Given the description of an element on the screen output the (x, y) to click on. 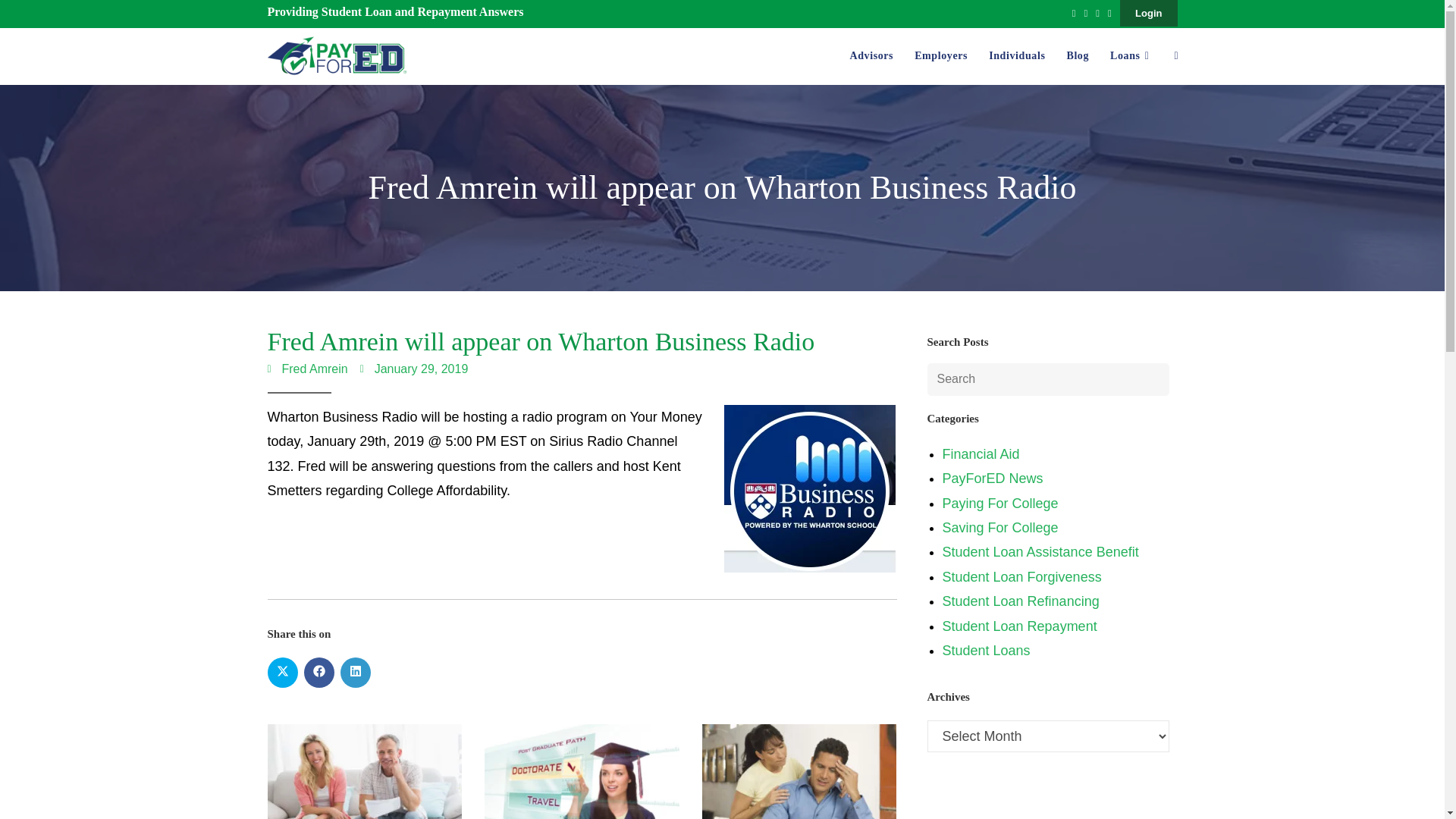
Financial Aid (980, 453)
Login (1147, 13)
Share on LinkedIn (354, 672)
Share on X (281, 672)
Share on Facebook (317, 672)
Employers (941, 55)
January 29, 2019 (413, 369)
Loans (1131, 55)
Advisors (871, 55)
Individuals (1016, 55)
